Given the description of an element on the screen output the (x, y) to click on. 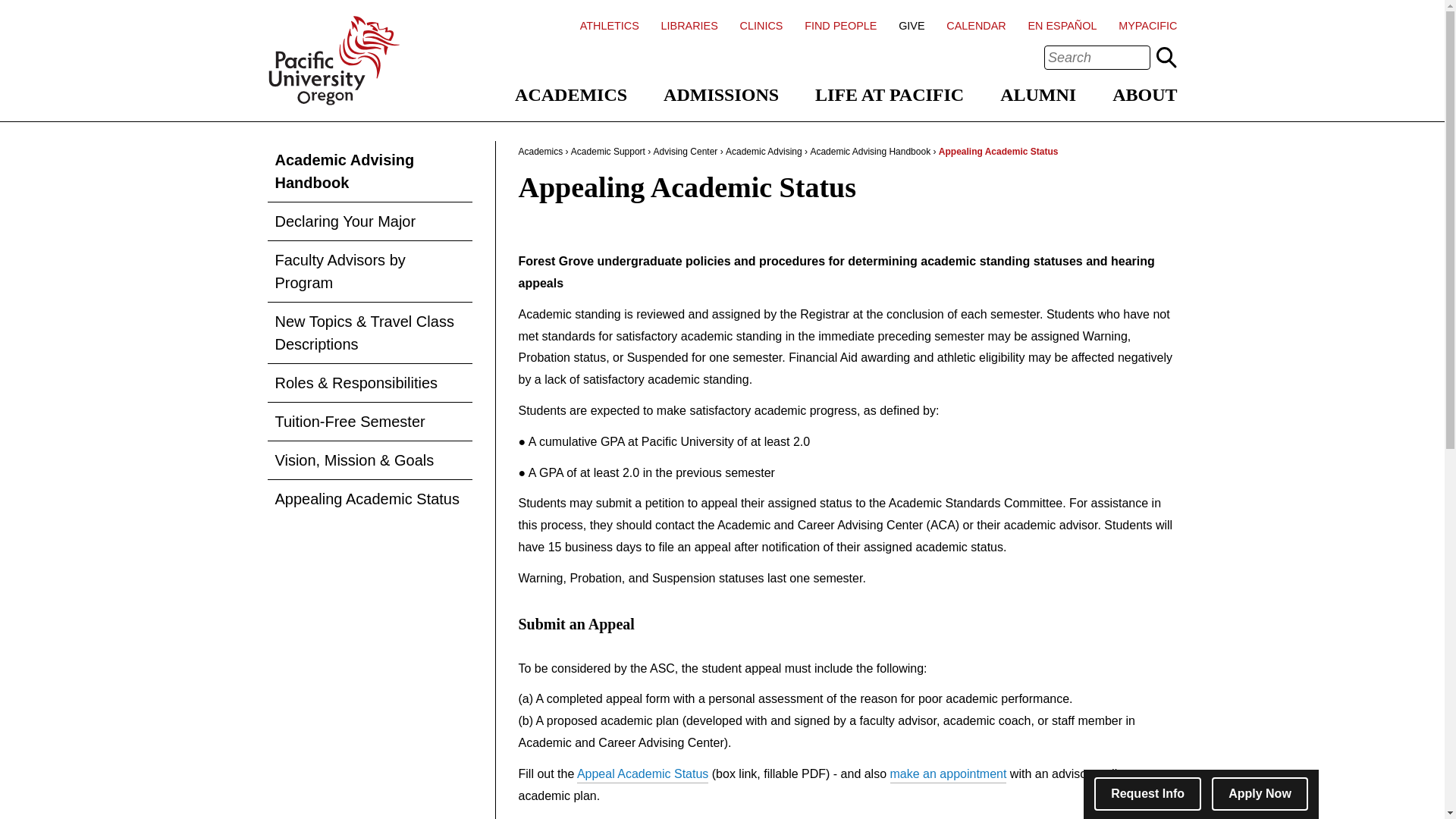
Academic Advising Handbook (368, 171)
CLINICS (761, 25)
GIVE (911, 25)
ALUMNI (1037, 94)
Tuition-Free Semester (368, 421)
ACADEMICS (571, 94)
Declaring Your Major (368, 220)
LIBRARIES (689, 25)
ABOUT (1144, 94)
Search (1166, 56)
MYPACIFIC (1147, 25)
ADMISSIONS (720, 94)
FIND PEOPLE (840, 25)
LIFE AT PACIFIC (889, 94)
Search (1166, 56)
